Given the description of an element on the screen output the (x, y) to click on. 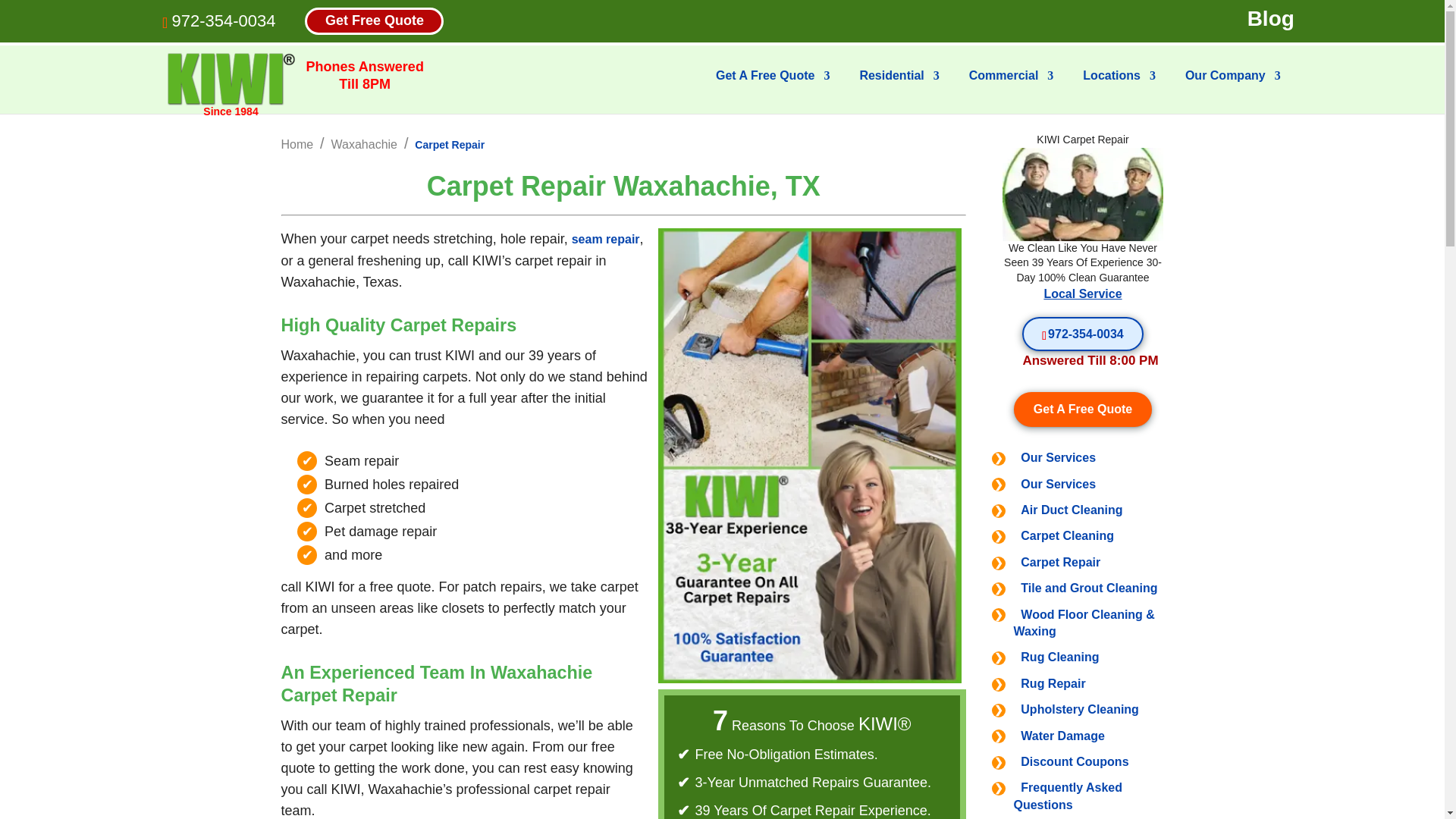
Residential (899, 88)
Since 1984 (230, 79)
KIWI Cleaning Services (230, 79)
972-354-0034 (223, 20)
Get A Free Quote (772, 88)
Blog (1270, 18)
Get Free Quote (373, 20)
